Given the description of an element on the screen output the (x, y) to click on. 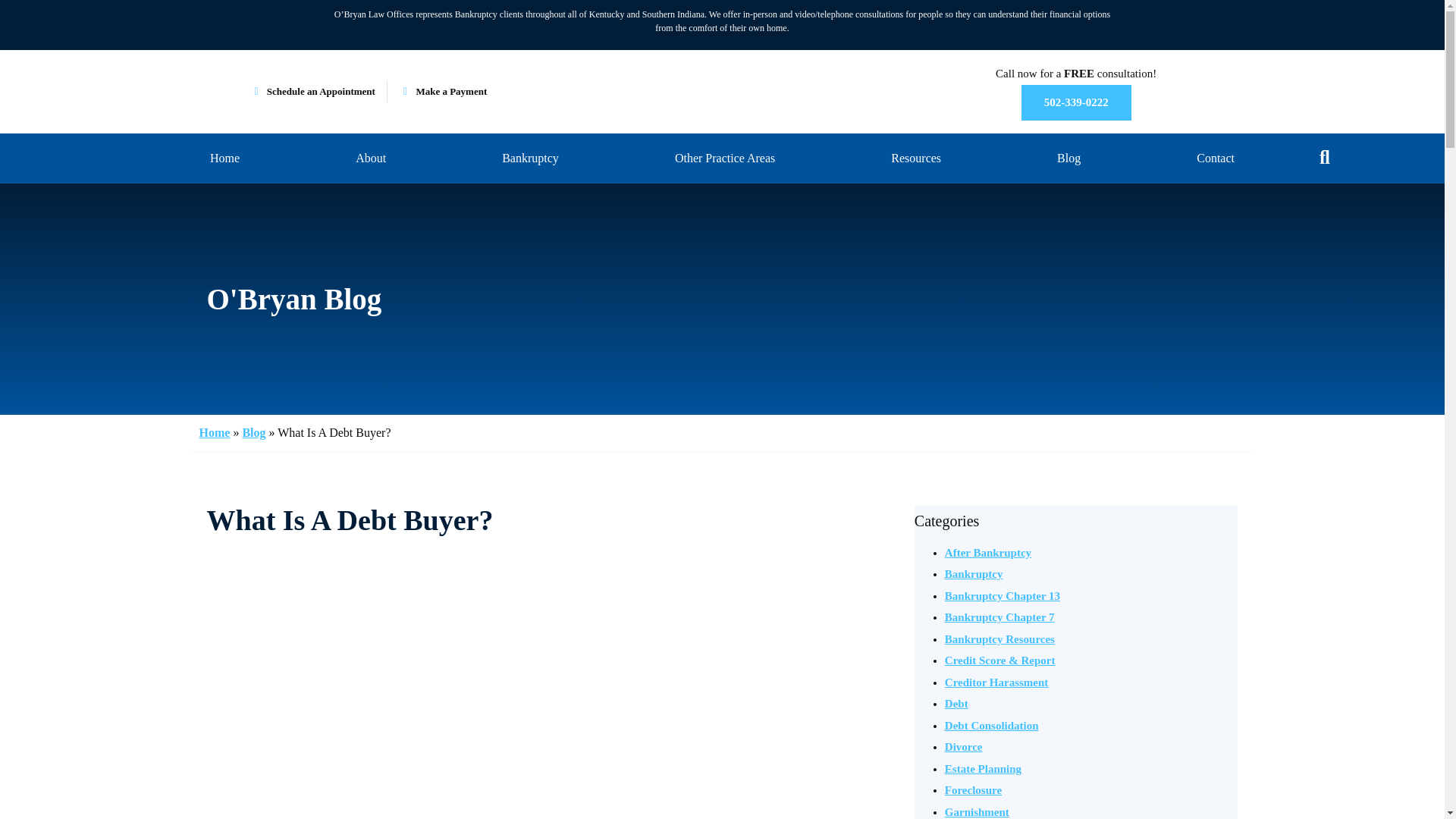
Schedule an Appointment (311, 92)
502-339-0222 (1076, 102)
Make a Payment (442, 92)
